Given the description of an element on the screen output the (x, y) to click on. 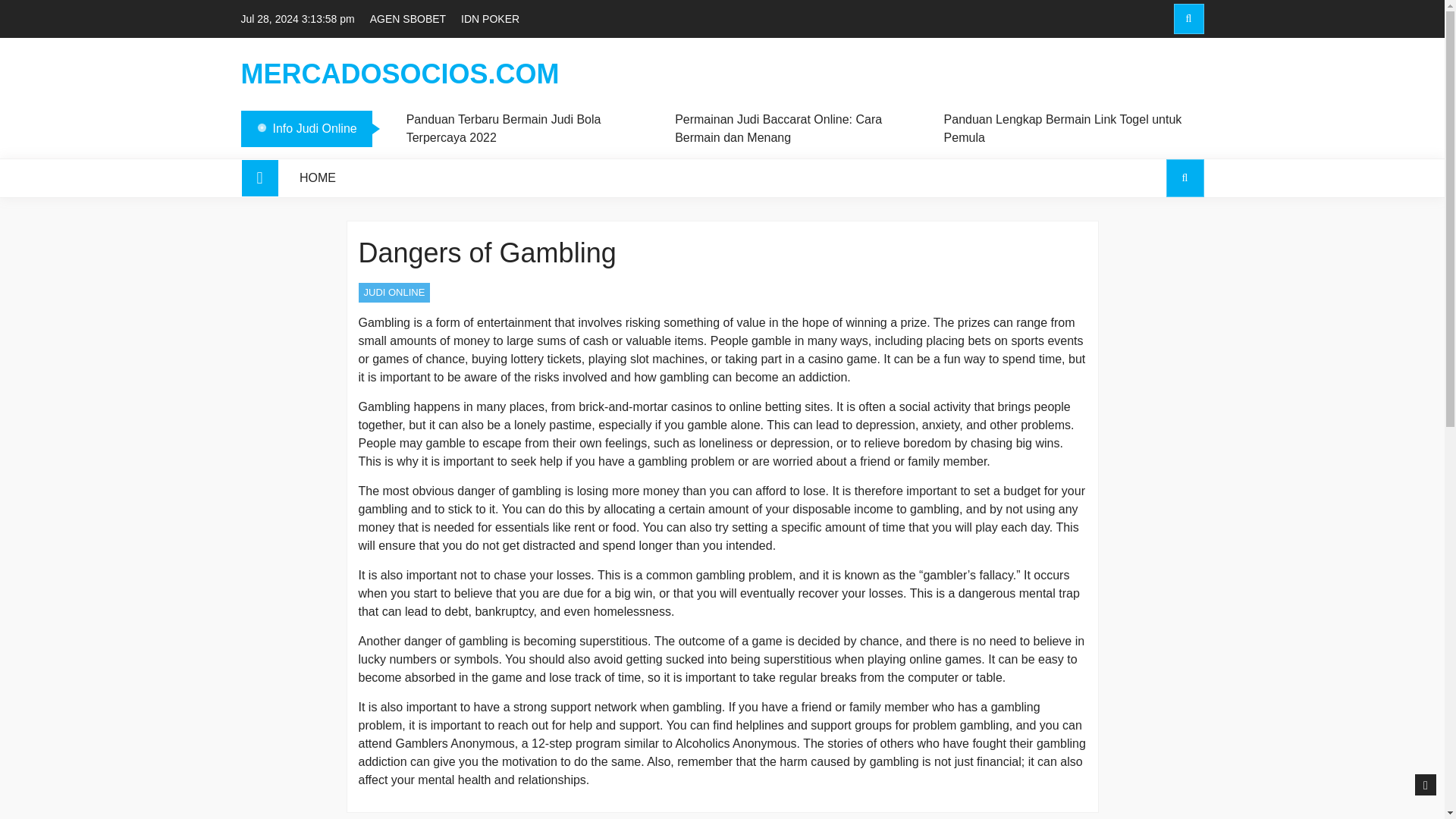
Search (1188, 19)
Panduan Terbaru Bermain Judi Bola Terpercaya 2022 (527, 128)
Go to Top (1425, 784)
MERCADOSOCIOS.COM (400, 73)
Search (1156, 243)
Search (1156, 83)
JUDI ONLINE (393, 292)
IDN POKER (490, 18)
Search (1185, 177)
HOME (317, 177)
AGEN SBOBET (407, 18)
Permainan Judi Baccarat Online: Cara Bermain dan Menang (796, 128)
Panduan Lengkap Bermain Link Togel untuk Pemula (1064, 128)
